Given the description of an element on the screen output the (x, y) to click on. 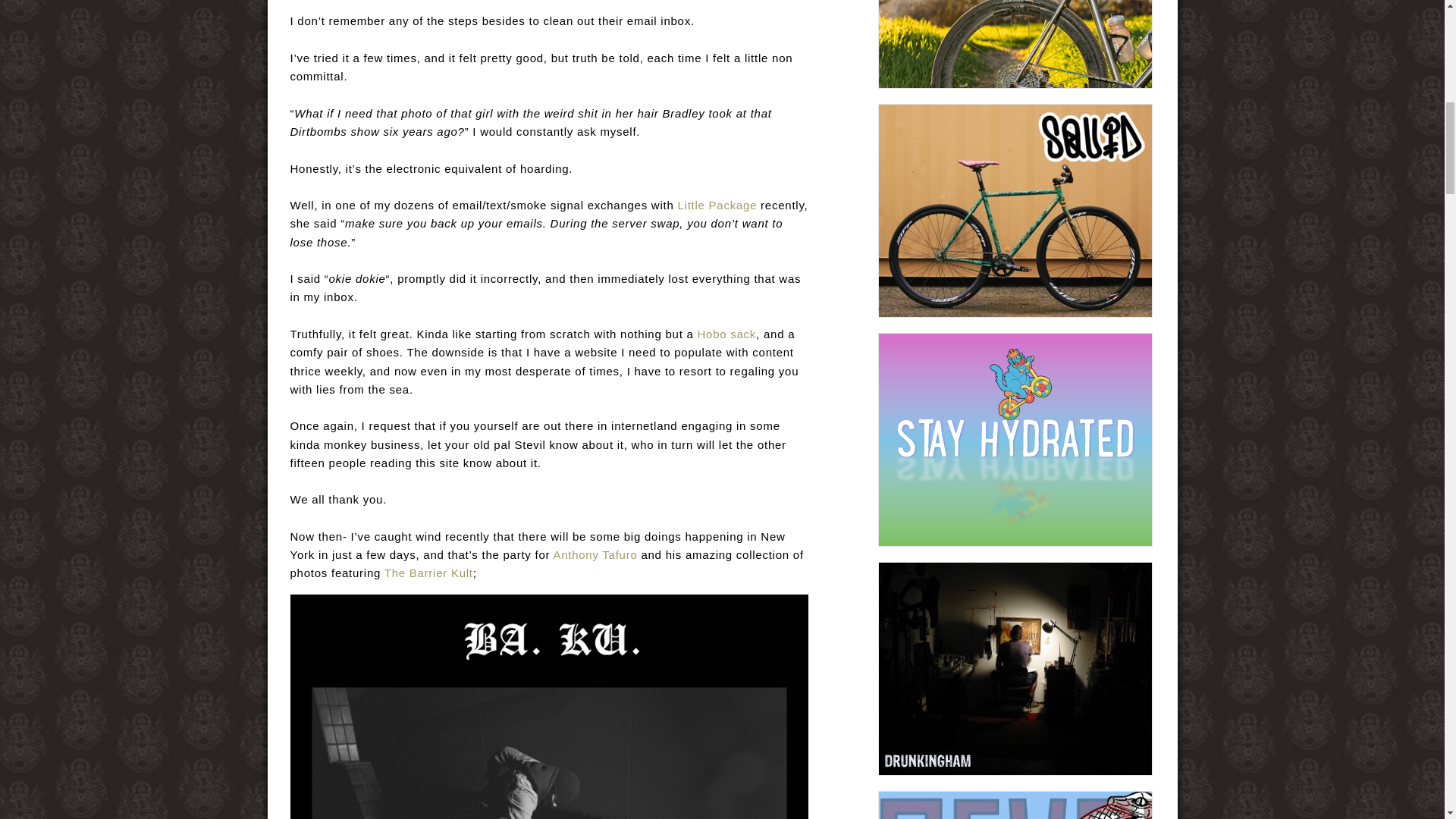
Little Package (717, 205)
Anthony Tafuro (595, 554)
The Barrier Kult (428, 572)
Hobo sack (726, 333)
